Given the description of an element on the screen output the (x, y) to click on. 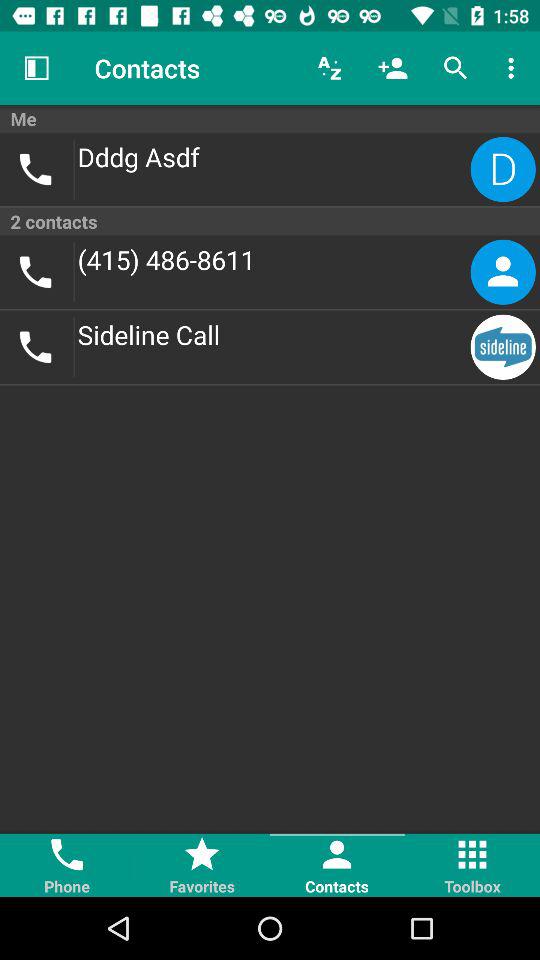
launch item to the right of contacts item (329, 67)
